Given the description of an element on the screen output the (x, y) to click on. 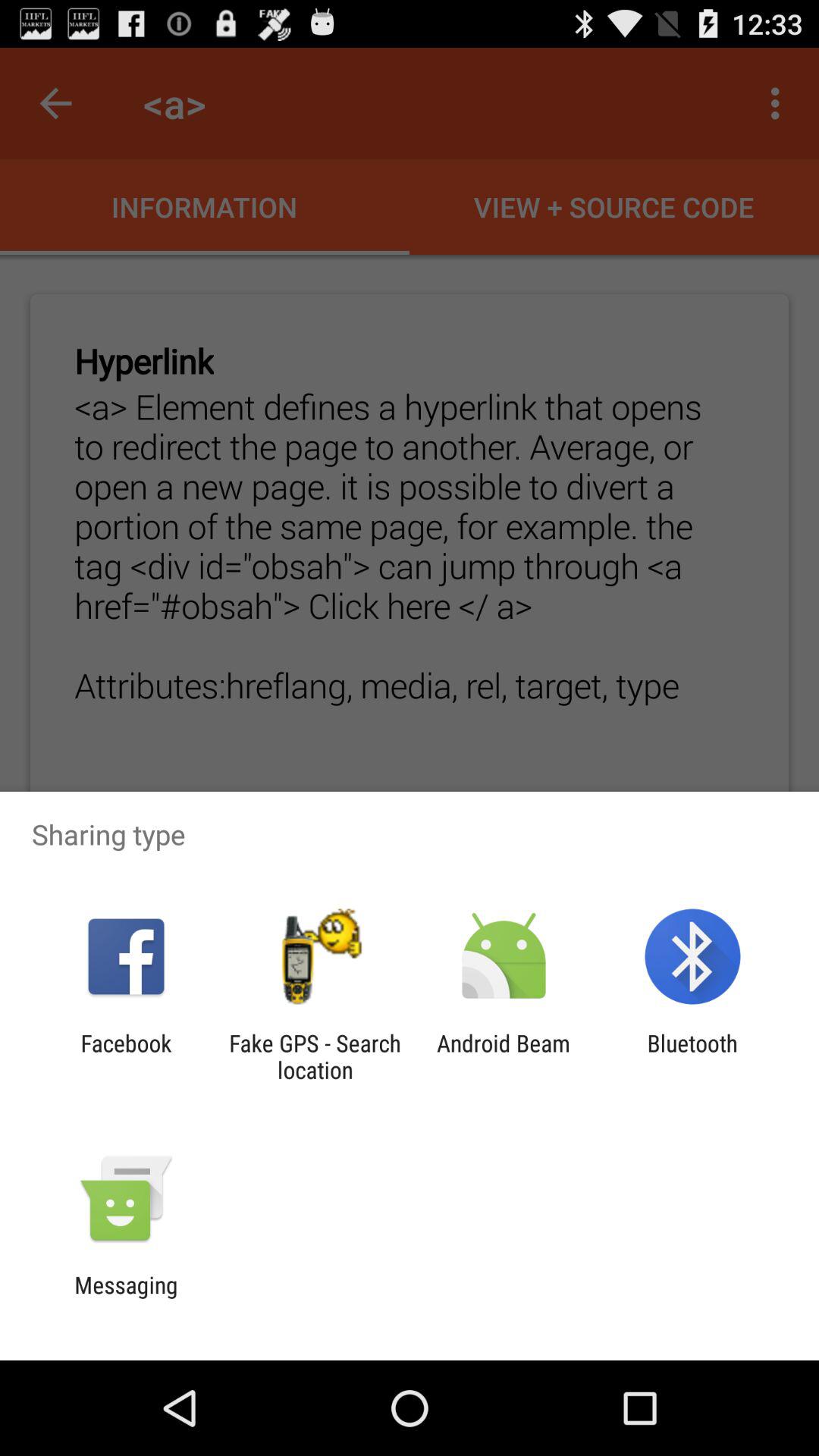
choose the icon to the right of android beam icon (692, 1056)
